Given the description of an element on the screen output the (x, y) to click on. 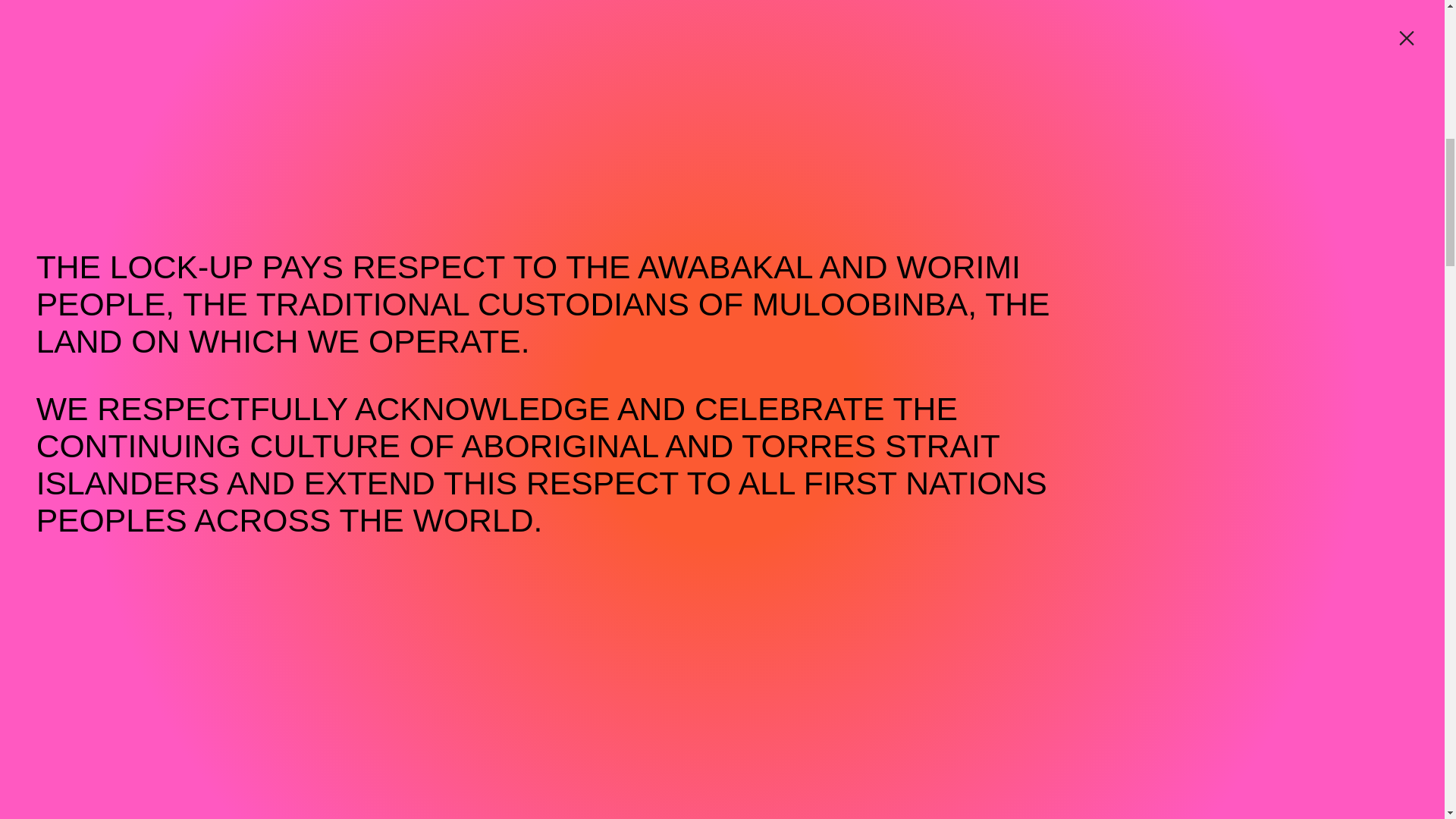
COLLECT: Focus (858, 147)
COLLECT 2024 (143, 147)
